Given the description of an element on the screen output the (x, y) to click on. 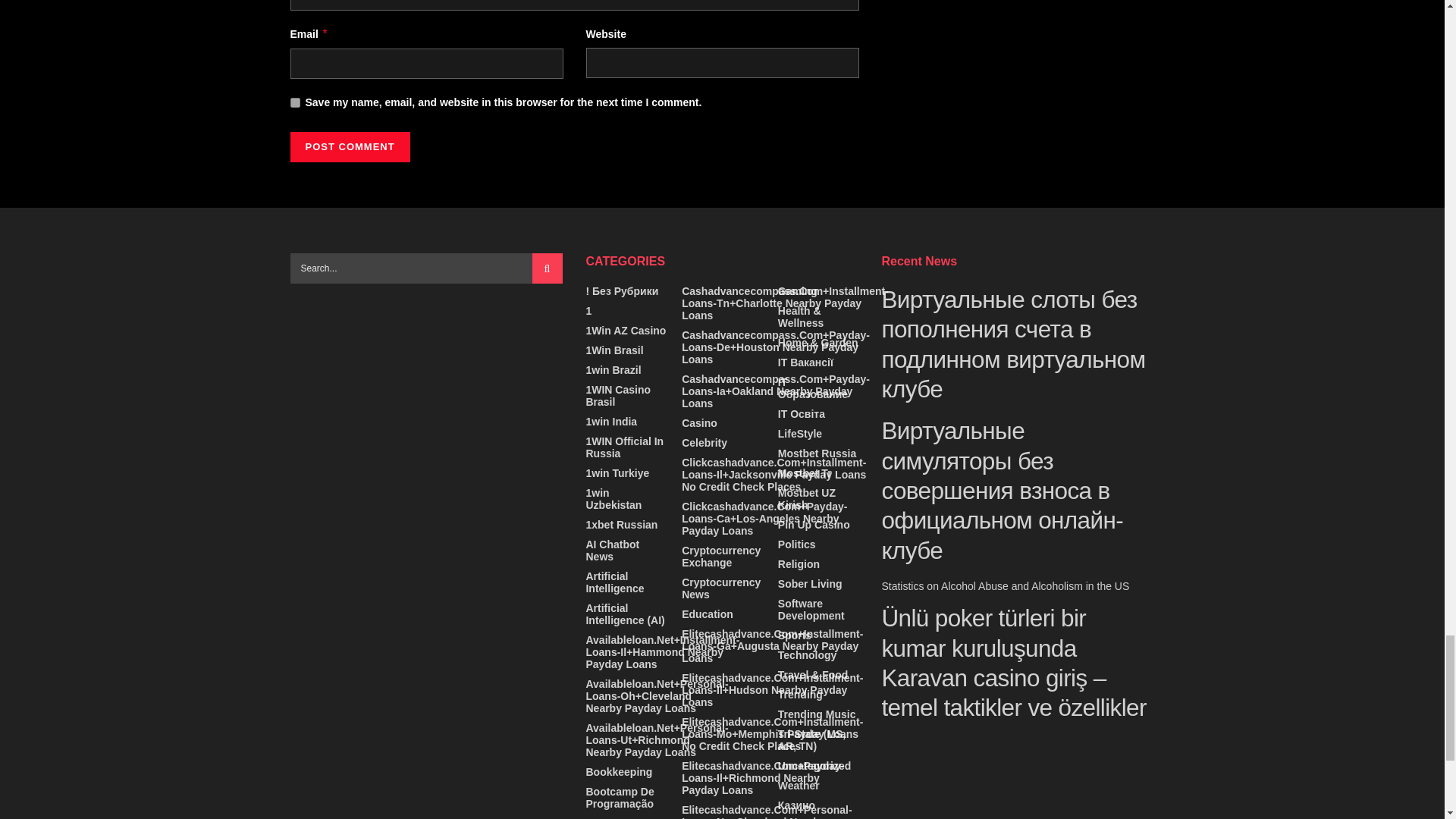
Post Comment (349, 146)
yes (294, 102)
